Given the description of an element on the screen output the (x, y) to click on. 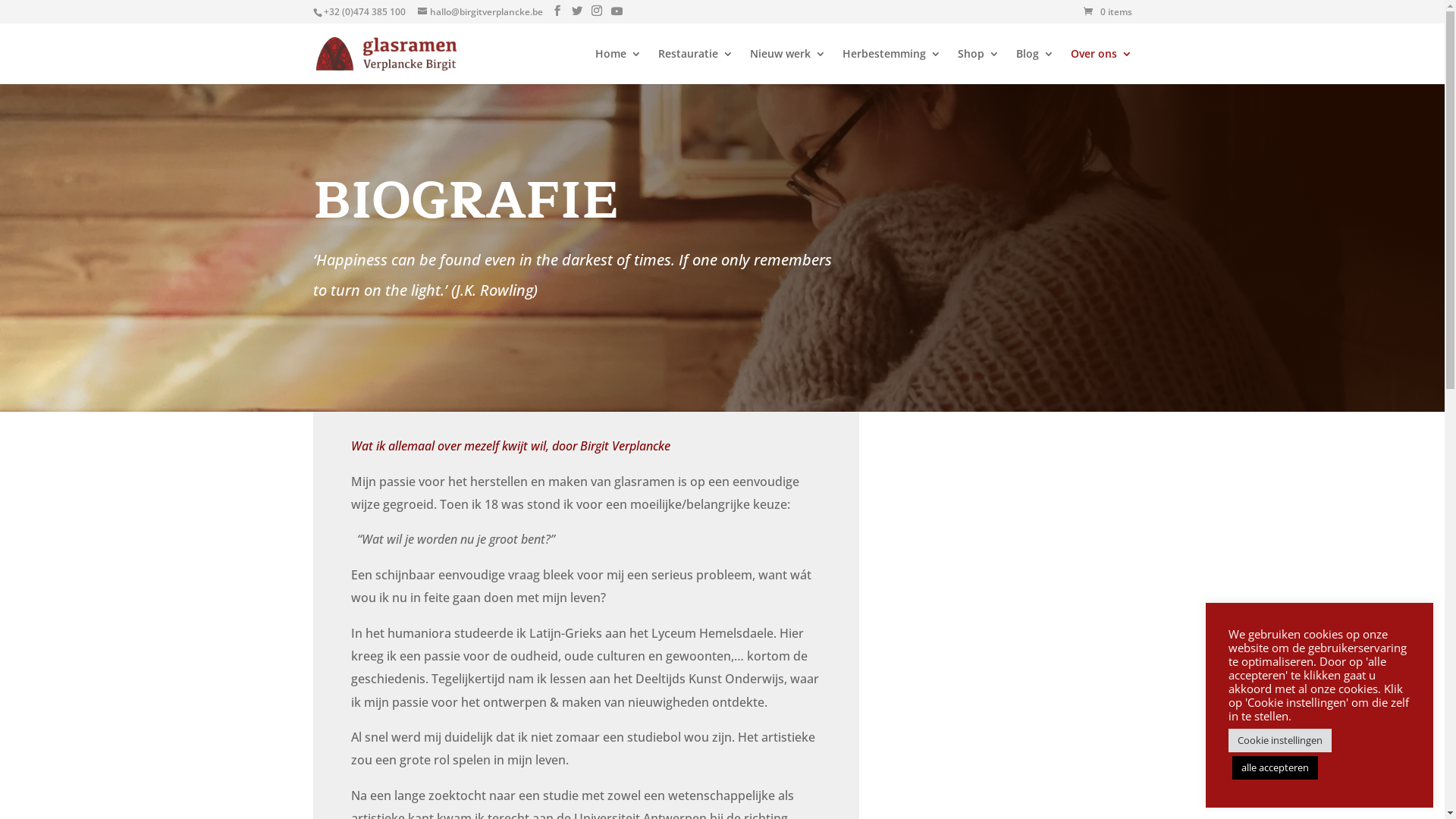
Cookie instellingen Element type: text (1279, 740)
Restauratie Element type: text (695, 66)
Over ons Element type: text (1101, 66)
Blog Element type: text (1035, 66)
Nieuw werk Element type: text (787, 66)
hallo@birgitverplancke.be Element type: text (479, 11)
alle accepteren Element type: text (1274, 767)
0 items Element type: text (1106, 11)
Herbestemming Element type: text (890, 66)
Shop Element type: text (977, 66)
Home Element type: text (617, 66)
